Given the description of an element on the screen output the (x, y) to click on. 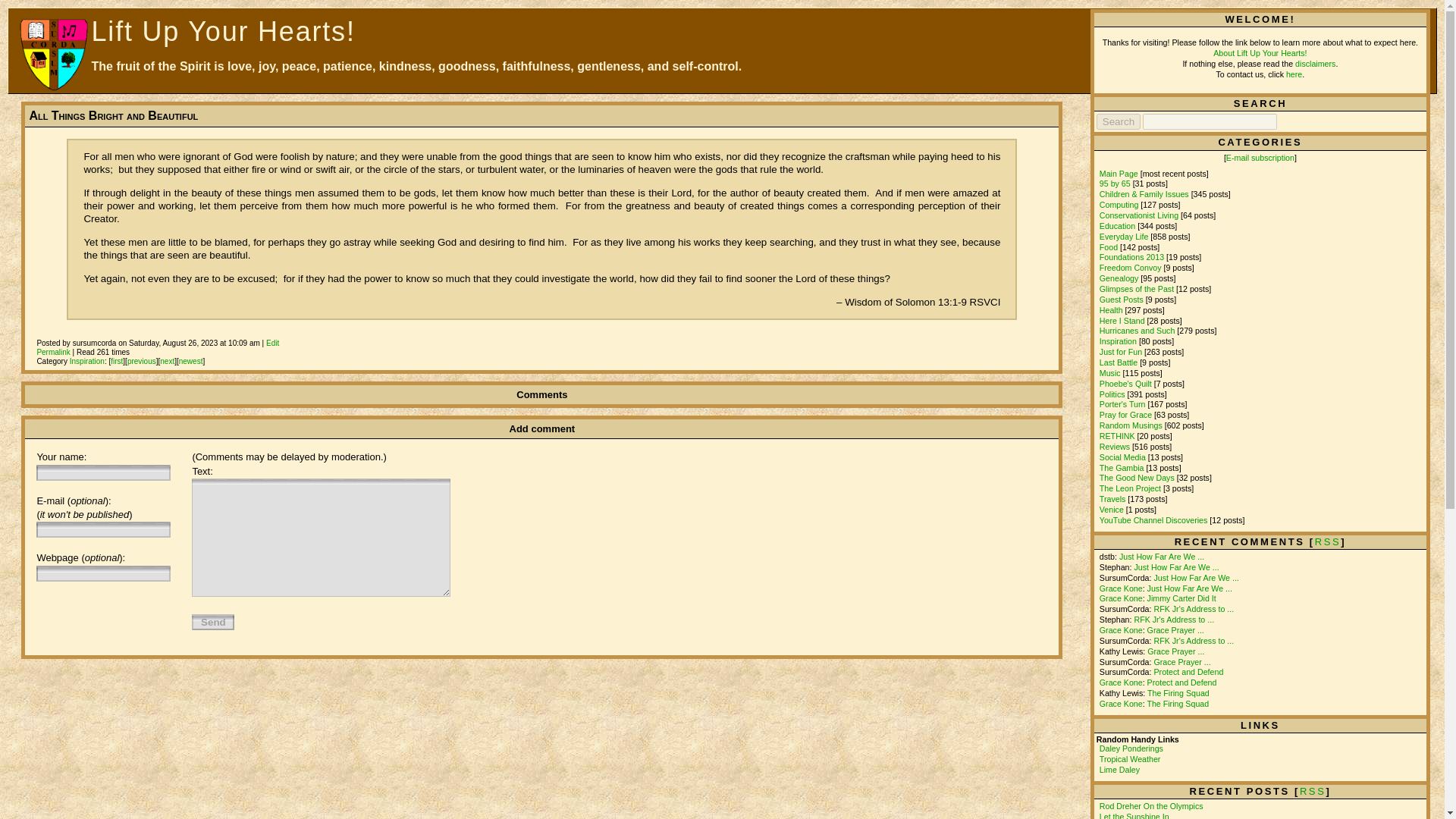
Foundations 2013 (1131, 256)
Here I Stand (1121, 320)
Show only posts in Computing (1118, 204)
Show only posts in Conservationist Living (1138, 215)
Computing (1118, 204)
Show only posts in Glimpses of the Past (1136, 288)
Show front page (1118, 172)
Politics (1112, 393)
here (1293, 73)
Education (1117, 225)
